Given the description of an element on the screen output the (x, y) to click on. 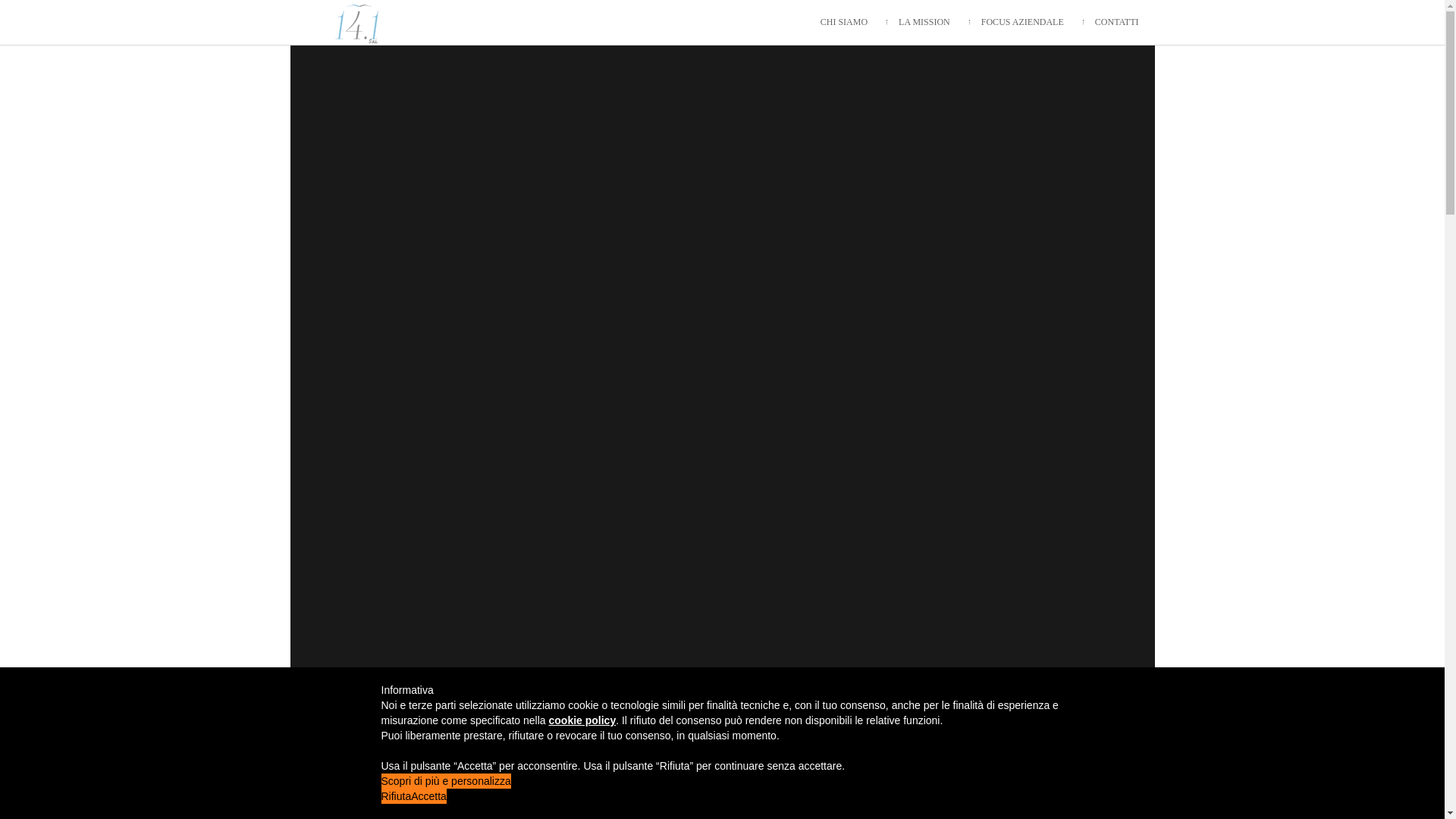
Rifiuta Element type: text (395, 795)
Accetta Element type: text (428, 795)
cookie policy Element type: text (582, 720)
